Given the description of an element on the screen output the (x, y) to click on. 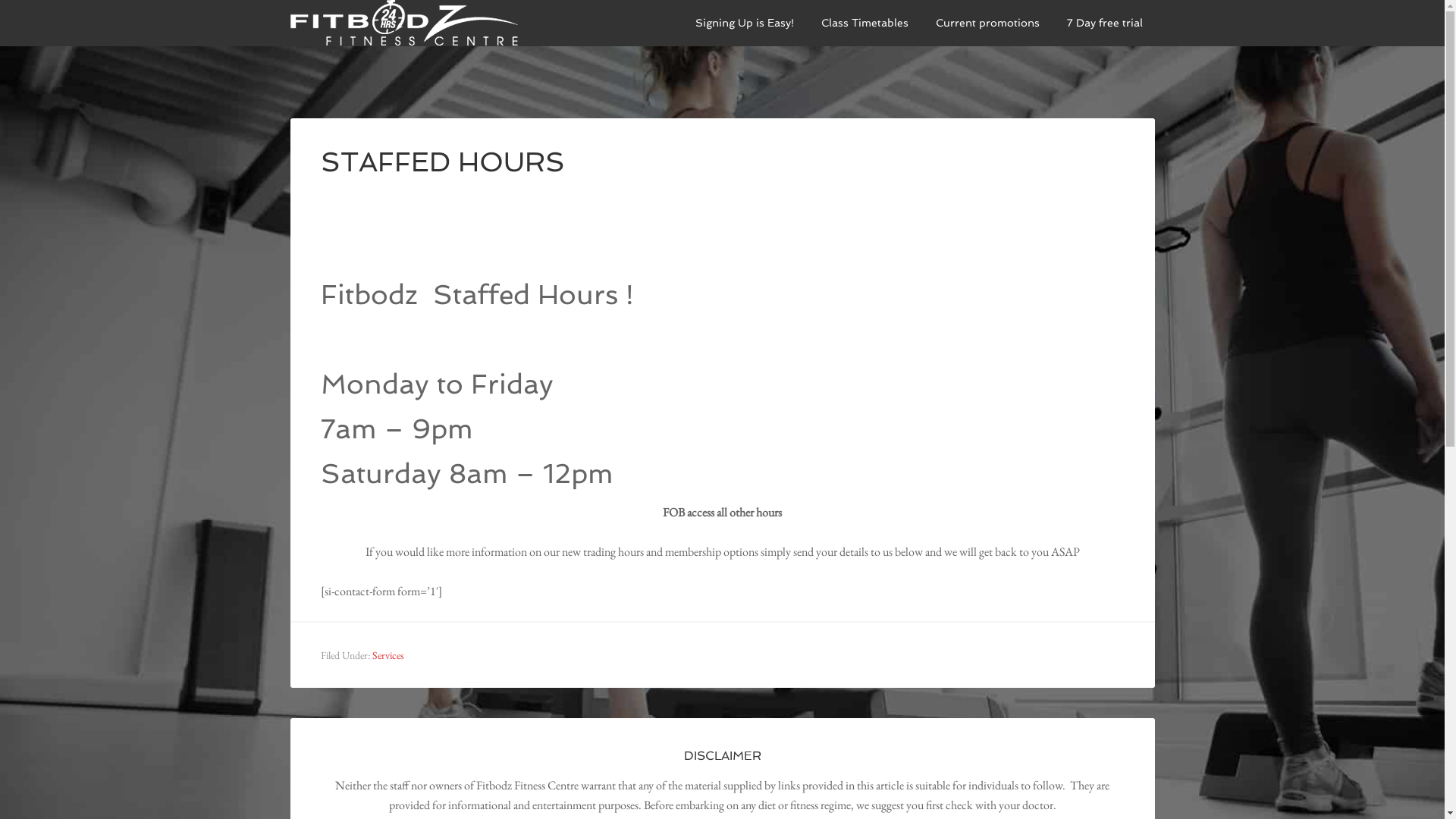
FITBODZ FITNESS CENTRE Element type: text (403, 22)
Services Element type: text (387, 655)
Current promotions Element type: text (987, 23)
7 Day free trial Element type: text (1104, 23)
Class Timetables Element type: text (863, 23)
Signing Up is Easy! Element type: text (743, 23)
